Given the description of an element on the screen output the (x, y) to click on. 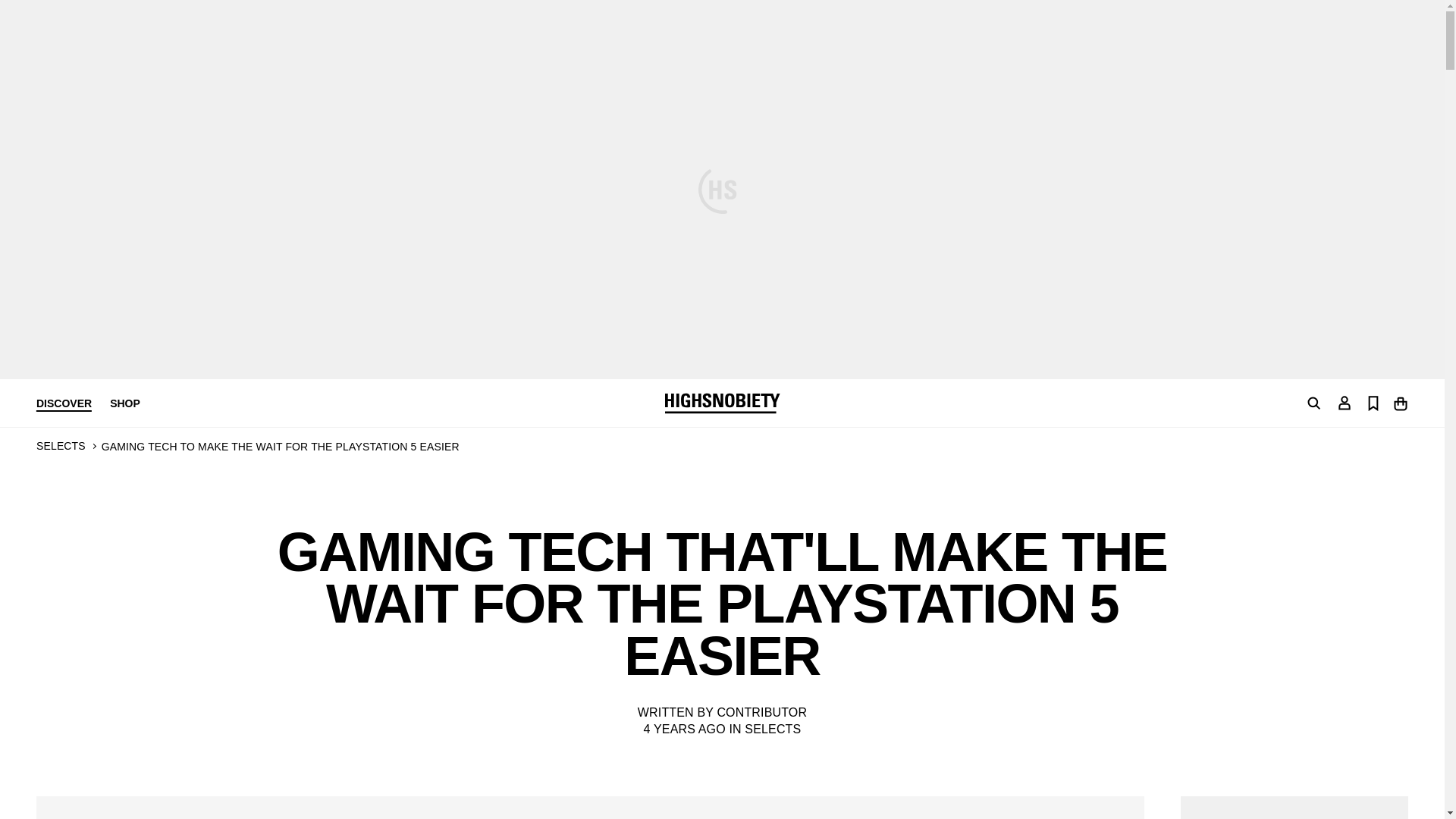
Go To Shopping Cart (1400, 402)
Go To Search (1314, 403)
Go To Account (1344, 402)
Go To Saved (1372, 402)
Highsnobiety (720, 403)
